Given the description of an element on the screen output the (x, y) to click on. 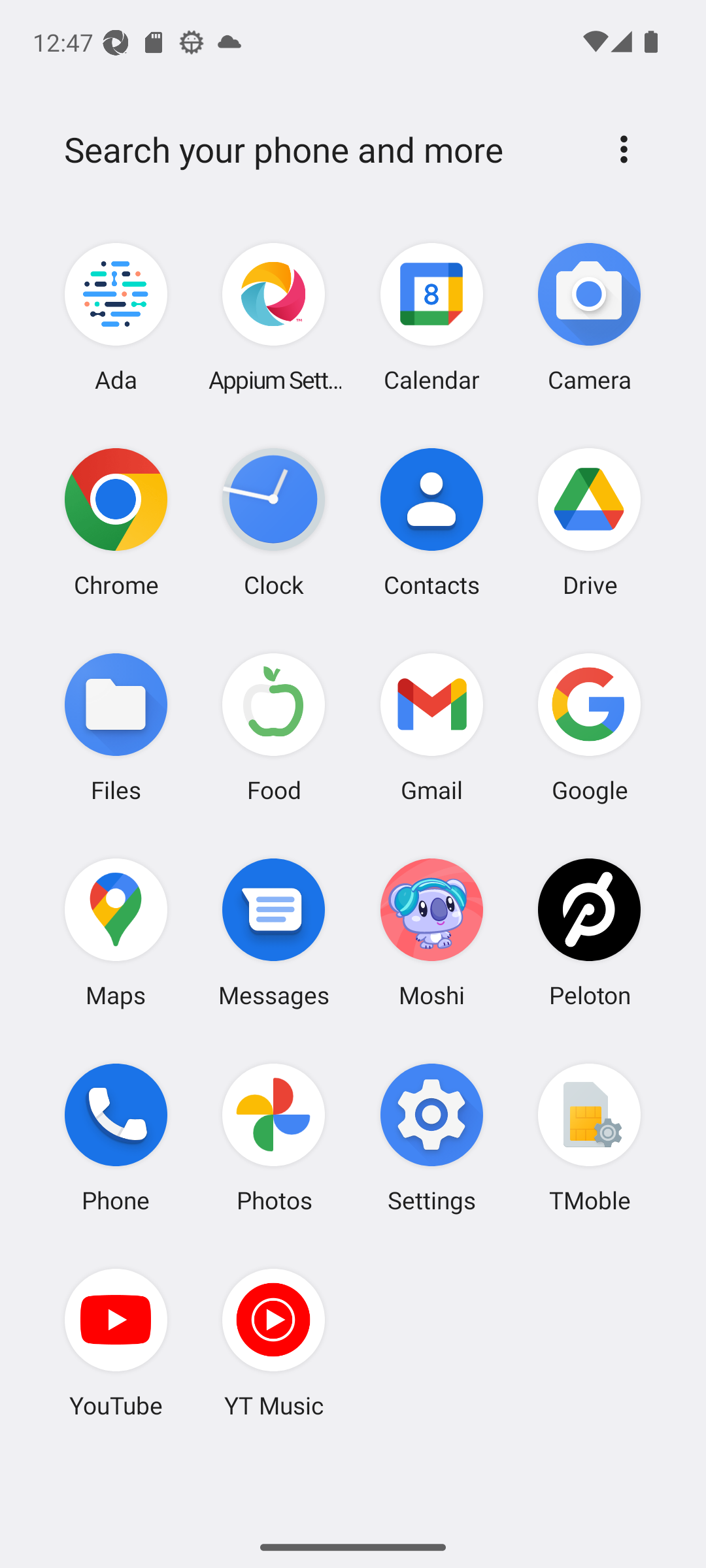
Search your phone and more (321, 149)
Preferences (623, 149)
Ada (115, 317)
Appium Settings (273, 317)
Calendar (431, 317)
Camera (589, 317)
Chrome (115, 522)
Clock (273, 522)
Contacts (431, 522)
Drive (589, 522)
Files (115, 726)
Food (273, 726)
Gmail (431, 726)
Google (589, 726)
Maps (115, 931)
Messages (273, 931)
Moshi (431, 931)
Peloton (589, 931)
Phone (115, 1137)
Photos (273, 1137)
Settings (431, 1137)
TMoble (589, 1137)
YouTube (115, 1342)
YT Music (273, 1342)
